Given the description of an element on the screen output the (x, y) to click on. 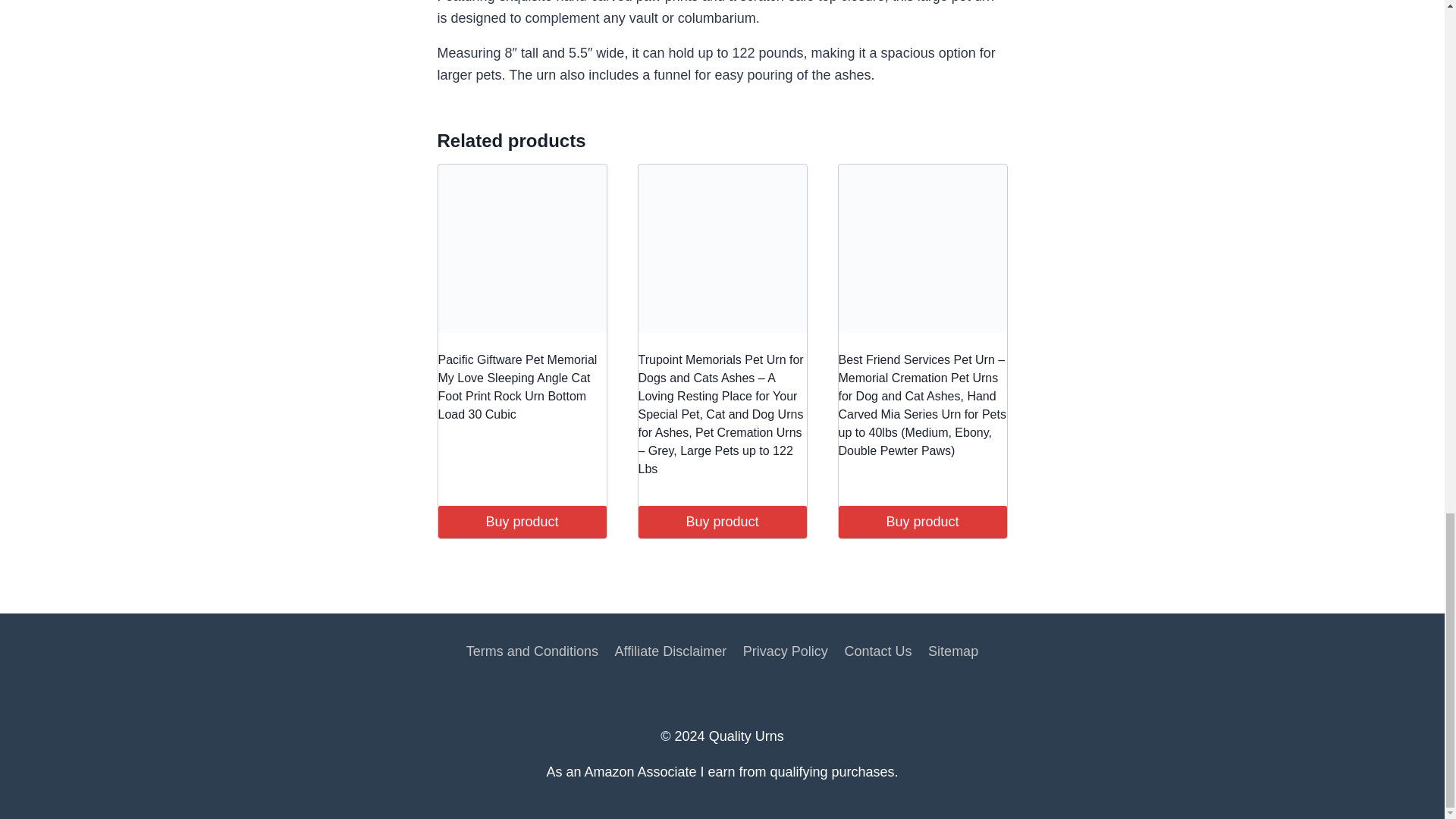
Buy product (922, 522)
Buy product (722, 522)
Buy product (522, 522)
